Given the description of an element on the screen output the (x, y) to click on. 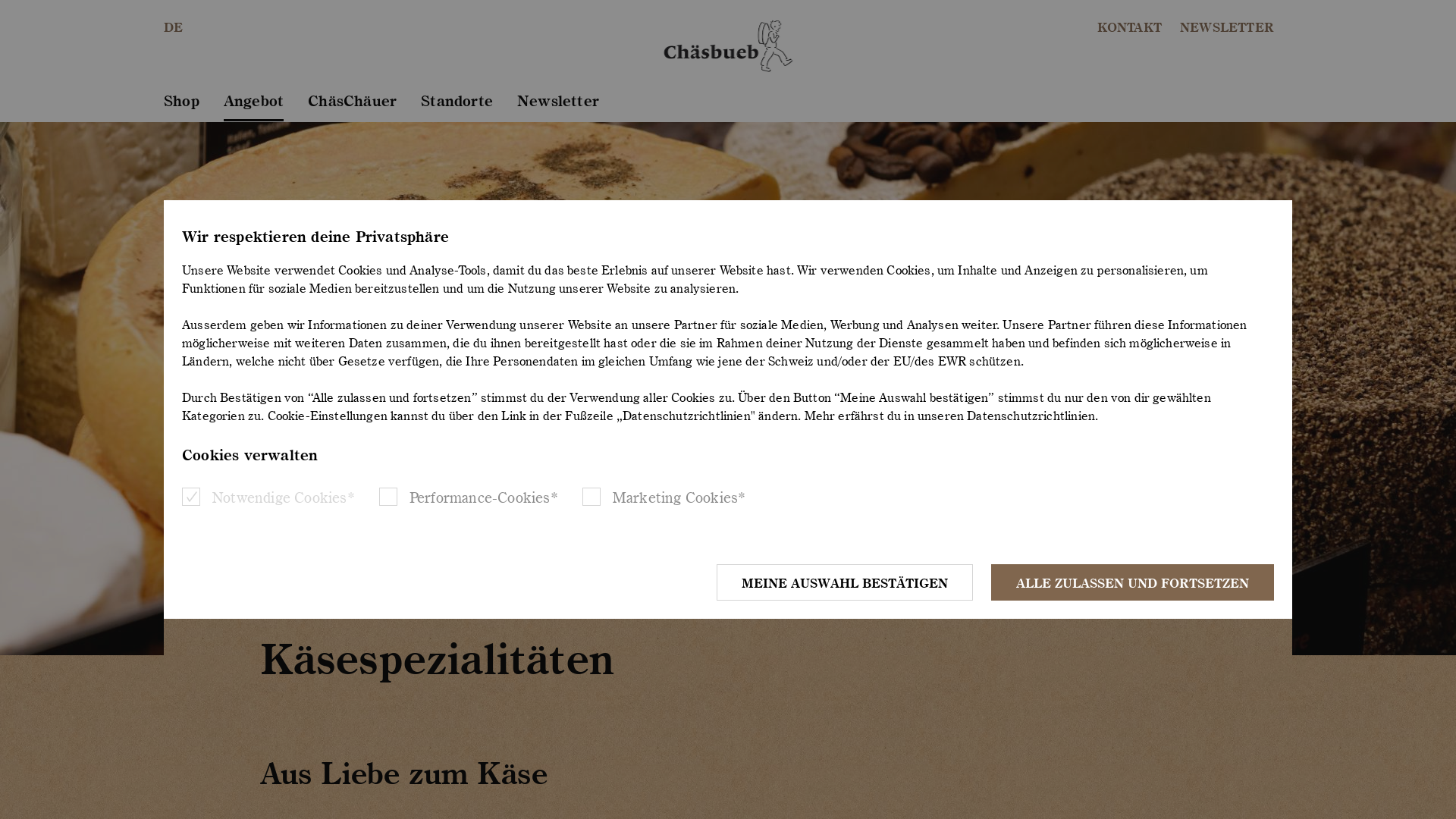
Standorte Element type: text (456, 105)
KONTAKT Element type: text (1129, 27)
Shop Element type: text (181, 105)
DE Element type: text (172, 27)
Newsletter Element type: text (558, 105)
ALLE ZULASSEN UND FORTSETZEN Element type: text (1132, 582)
Angebot Element type: text (253, 105)
NEWSLETTER Element type: text (1226, 27)
